Given the description of an element on the screen output the (x, y) to click on. 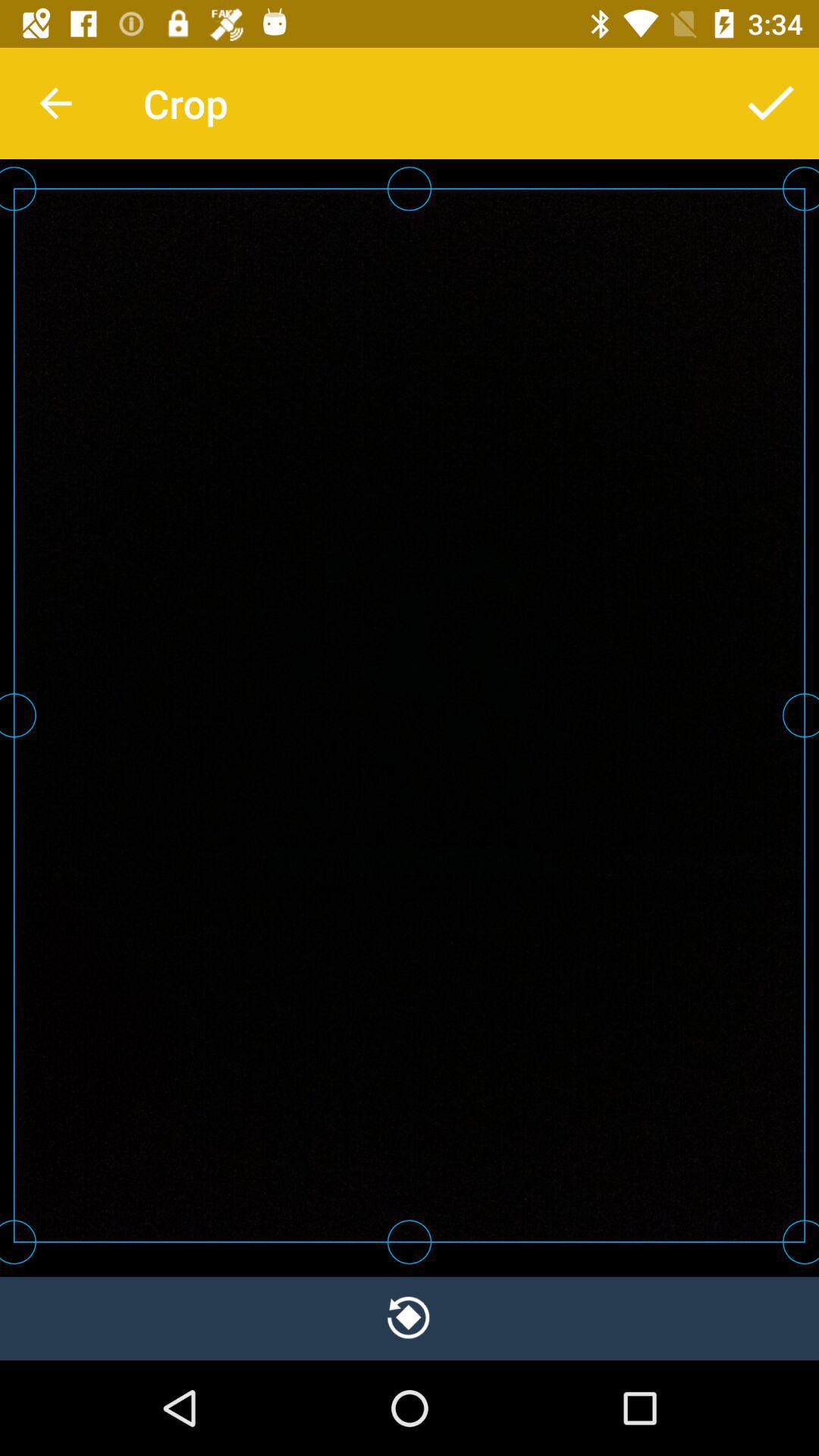
turn on the item next to crop (771, 103)
